Given the description of an element on the screen output the (x, y) to click on. 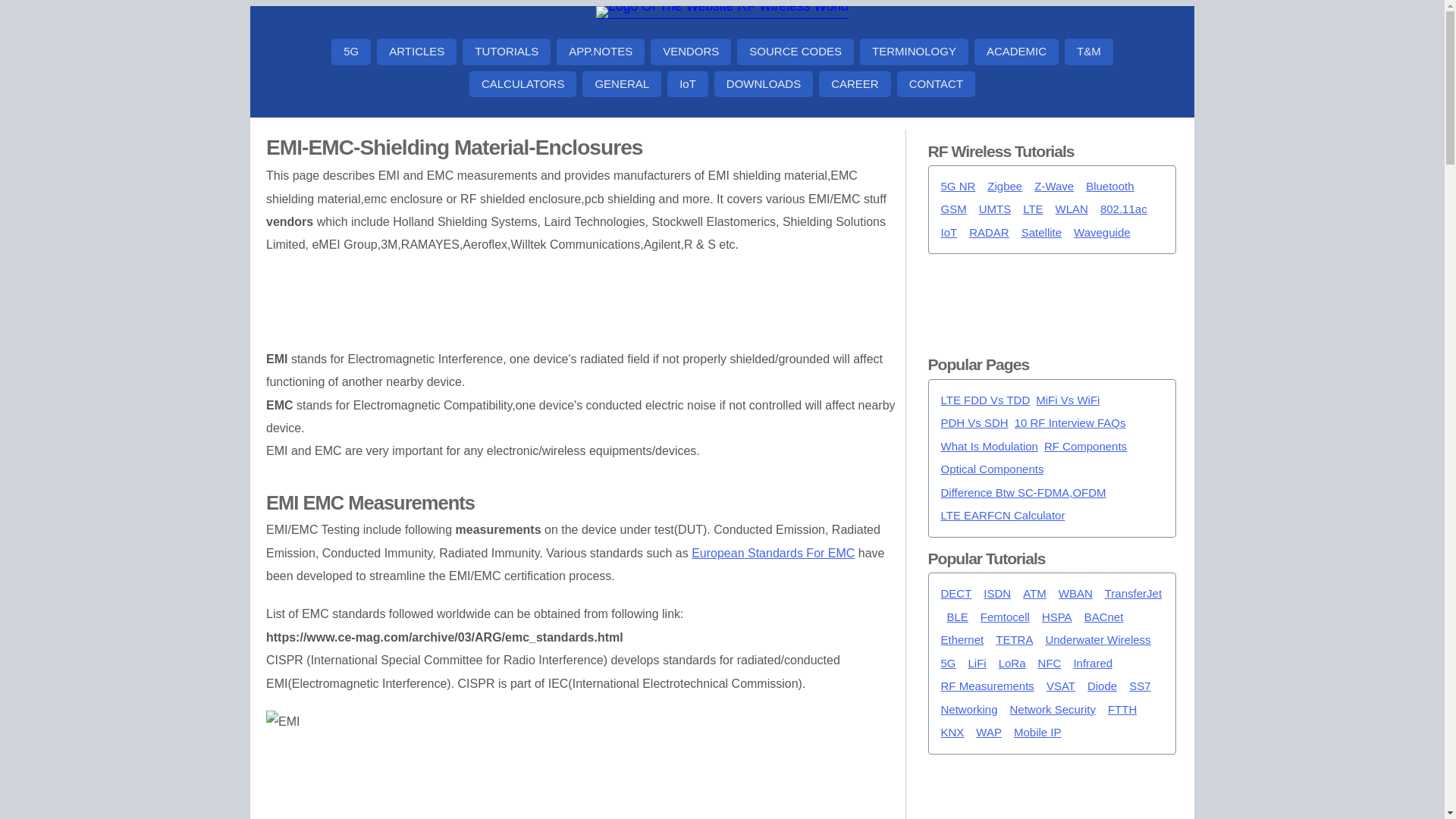
CONTACT (935, 84)
DOWNLOADS (763, 84)
CAREER (854, 84)
5G (351, 51)
ARTICLES (417, 51)
CALCULATORS (522, 84)
European Standards For EMC (772, 553)
ACADEMIC (1016, 51)
APP.NOTES (600, 51)
SOURCE CODES (794, 51)
